Given the description of an element on the screen output the (x, y) to click on. 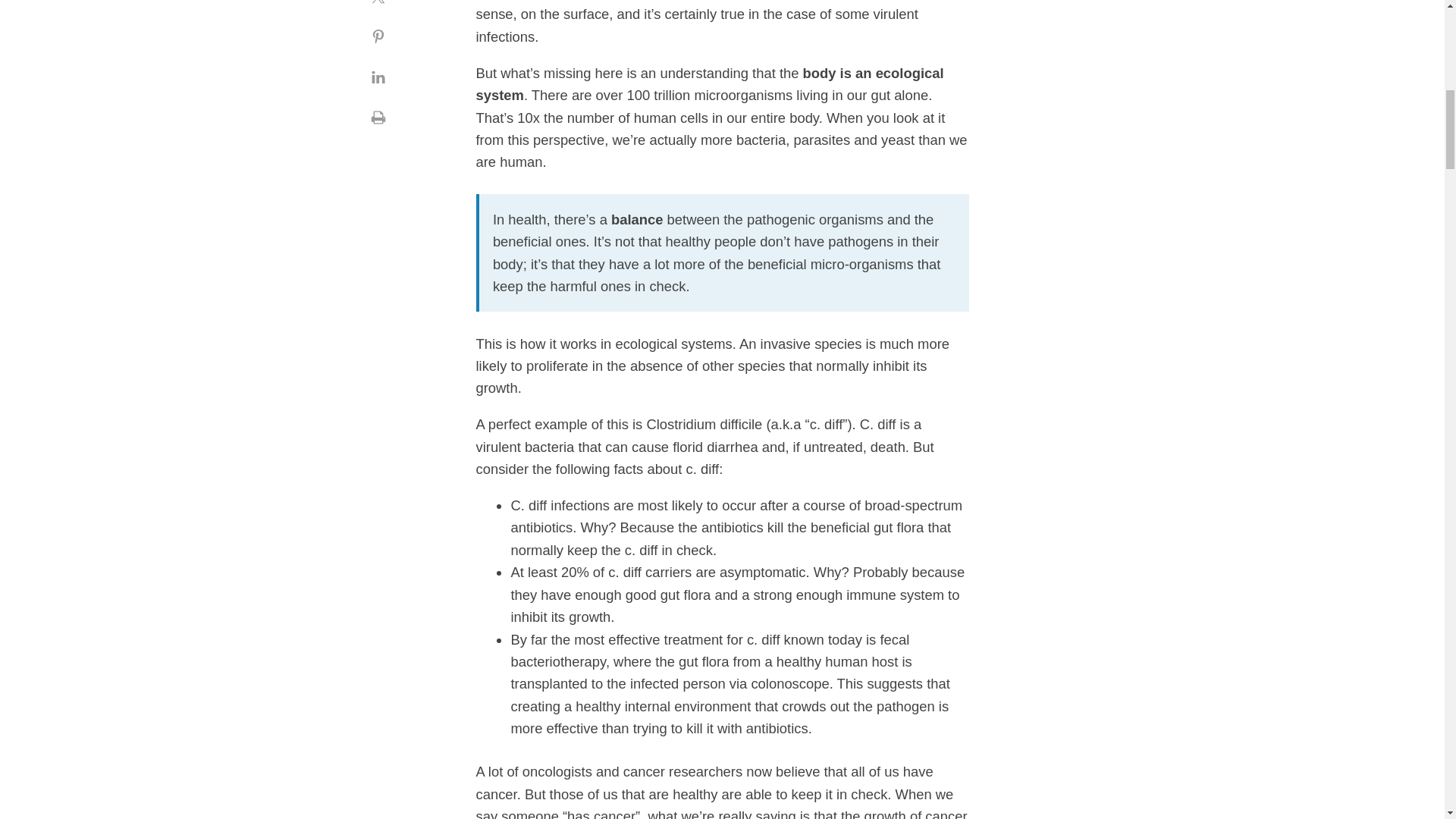
Print this Page (377, 117)
Share on Pinterest (377, 36)
Share on Twitter (377, 8)
Share on LinkedIn (377, 76)
